Given the description of an element on the screen output the (x, y) to click on. 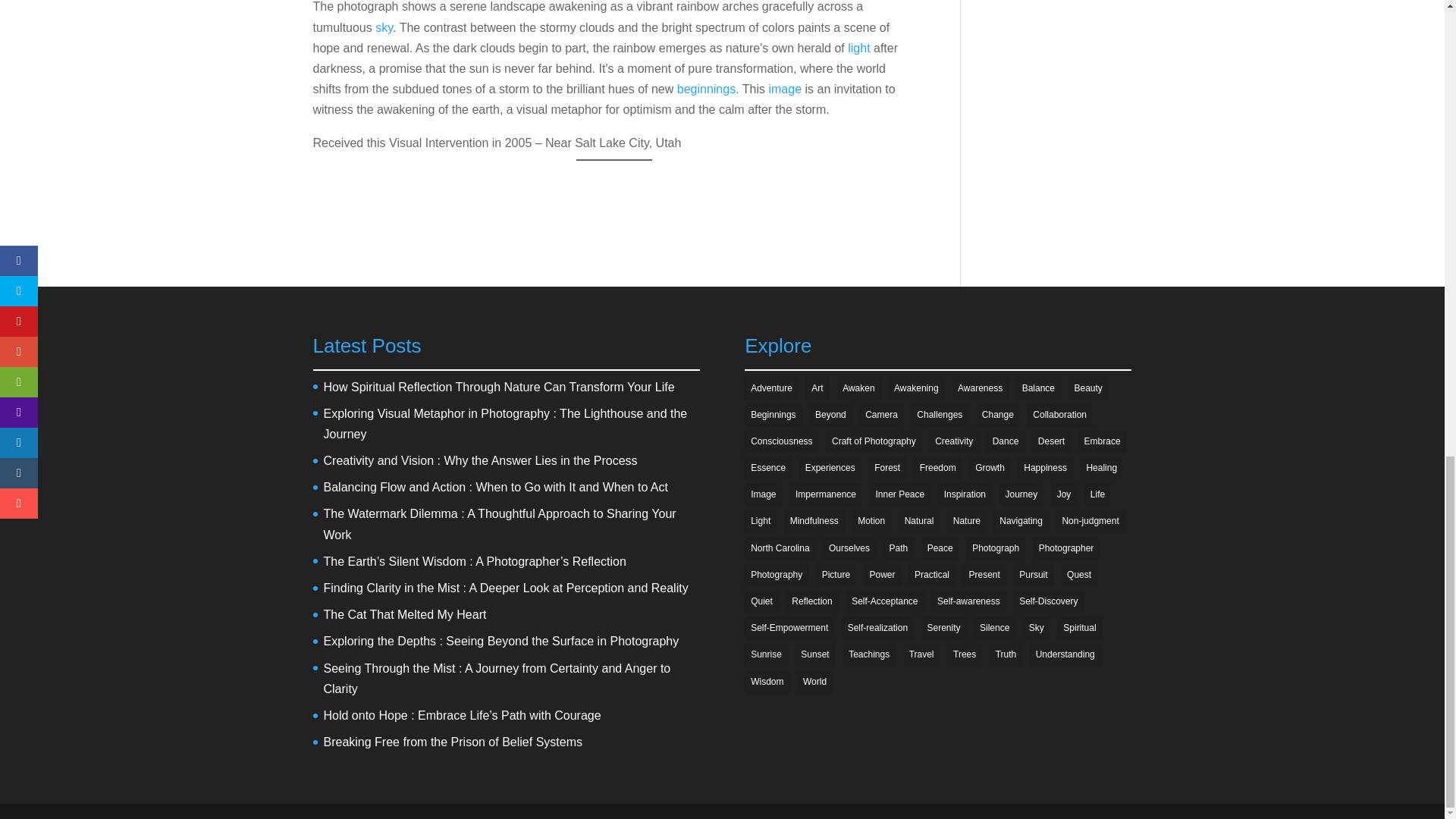
image (785, 88)
Posts tagged with Sky (384, 27)
Posts tagged with Image (785, 88)
Posts tagged with Light (858, 47)
sky (384, 27)
Posts tagged with Beginnings (706, 88)
beginnings (706, 88)
light (858, 47)
